Given the description of an element on the screen output the (x, y) to click on. 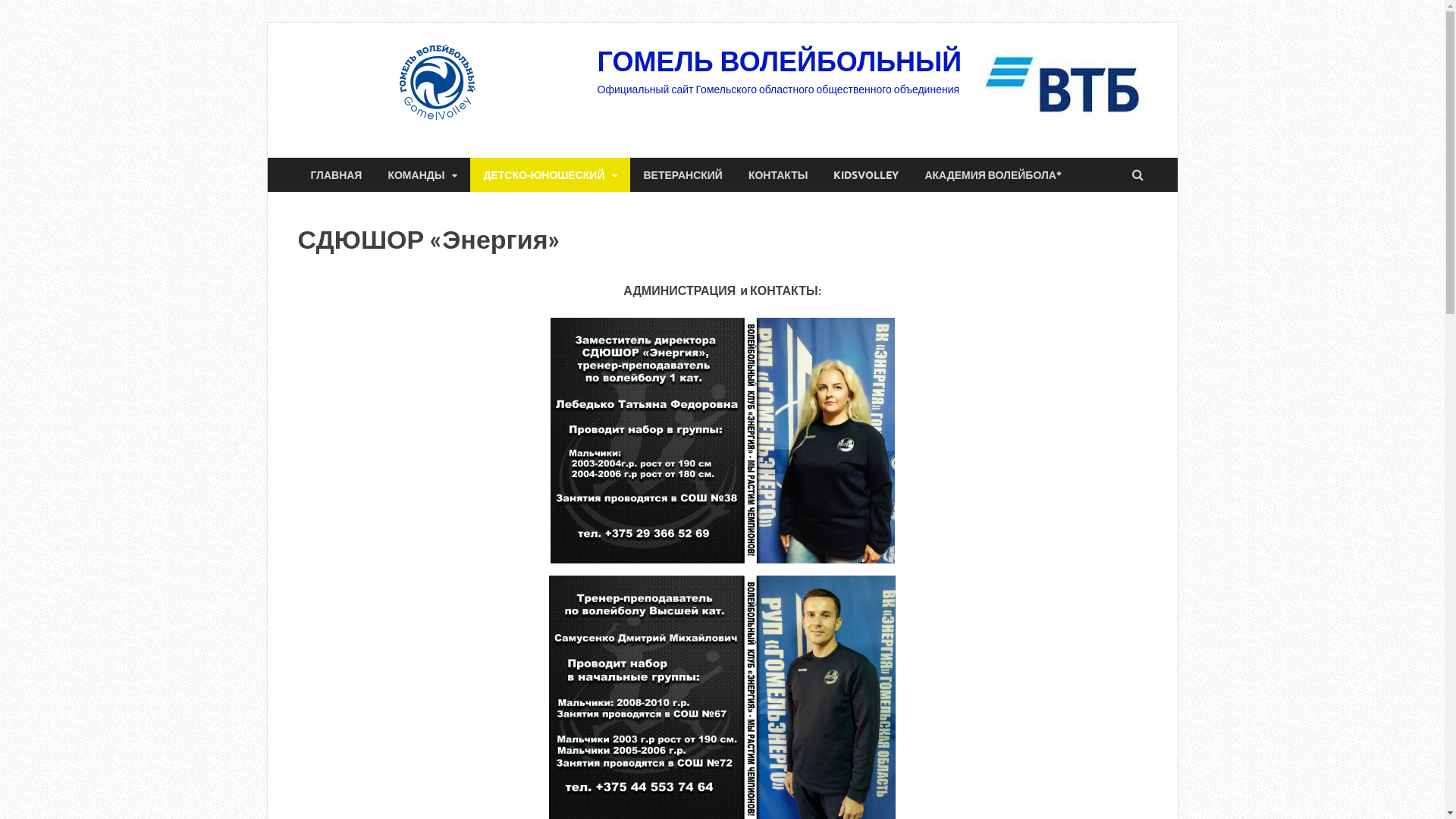
KIDSVOLLEY Element type: text (865, 174)
